Given the description of an element on the screen output the (x, y) to click on. 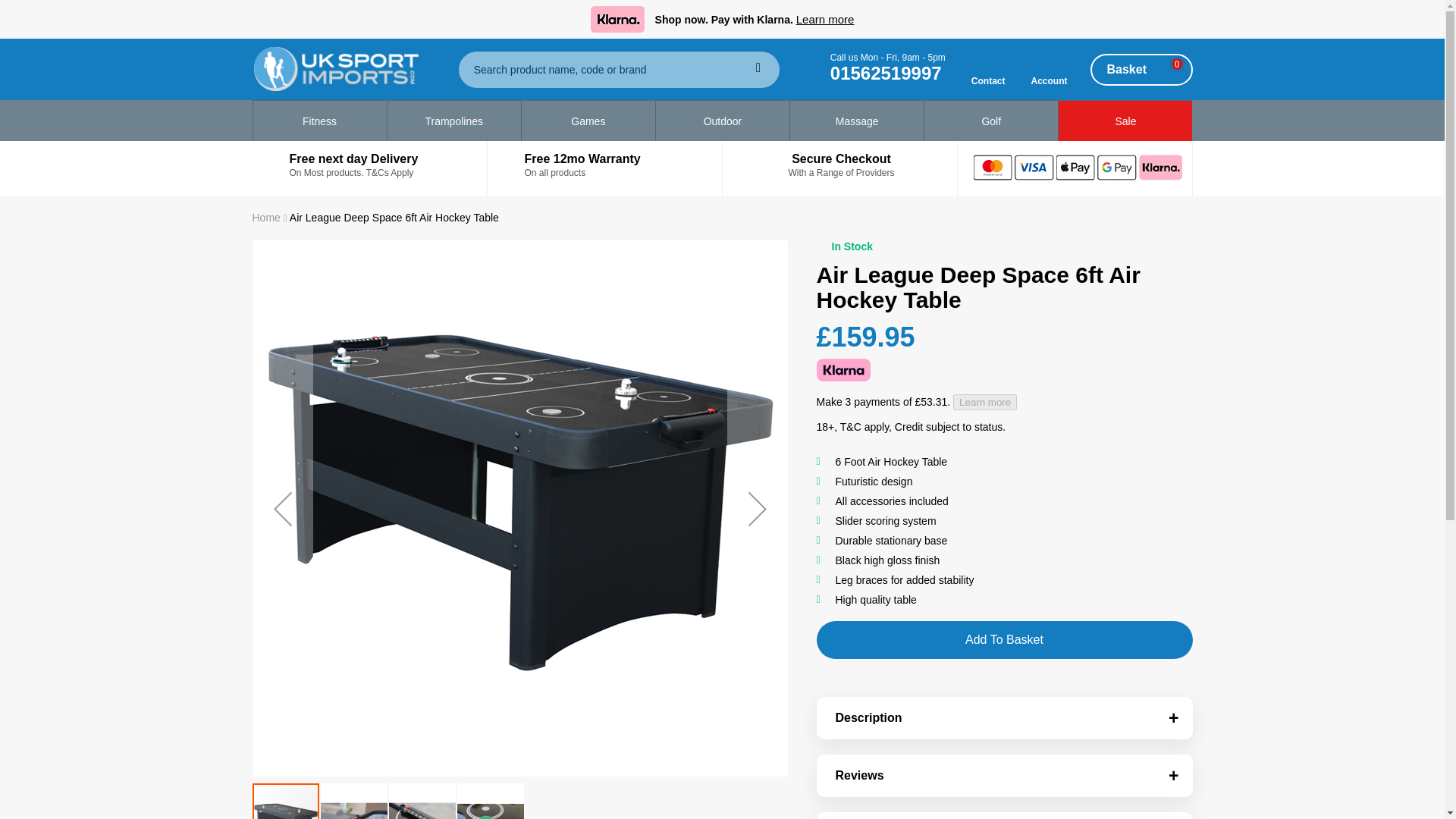
Fitness (319, 121)
Fitness (319, 121)
Search (759, 68)
Learn more (825, 18)
Account (1048, 69)
Contact (988, 69)
Search (759, 68)
01562519997 (885, 73)
UK Sport Imports (346, 68)
